Given the description of an element on the screen output the (x, y) to click on. 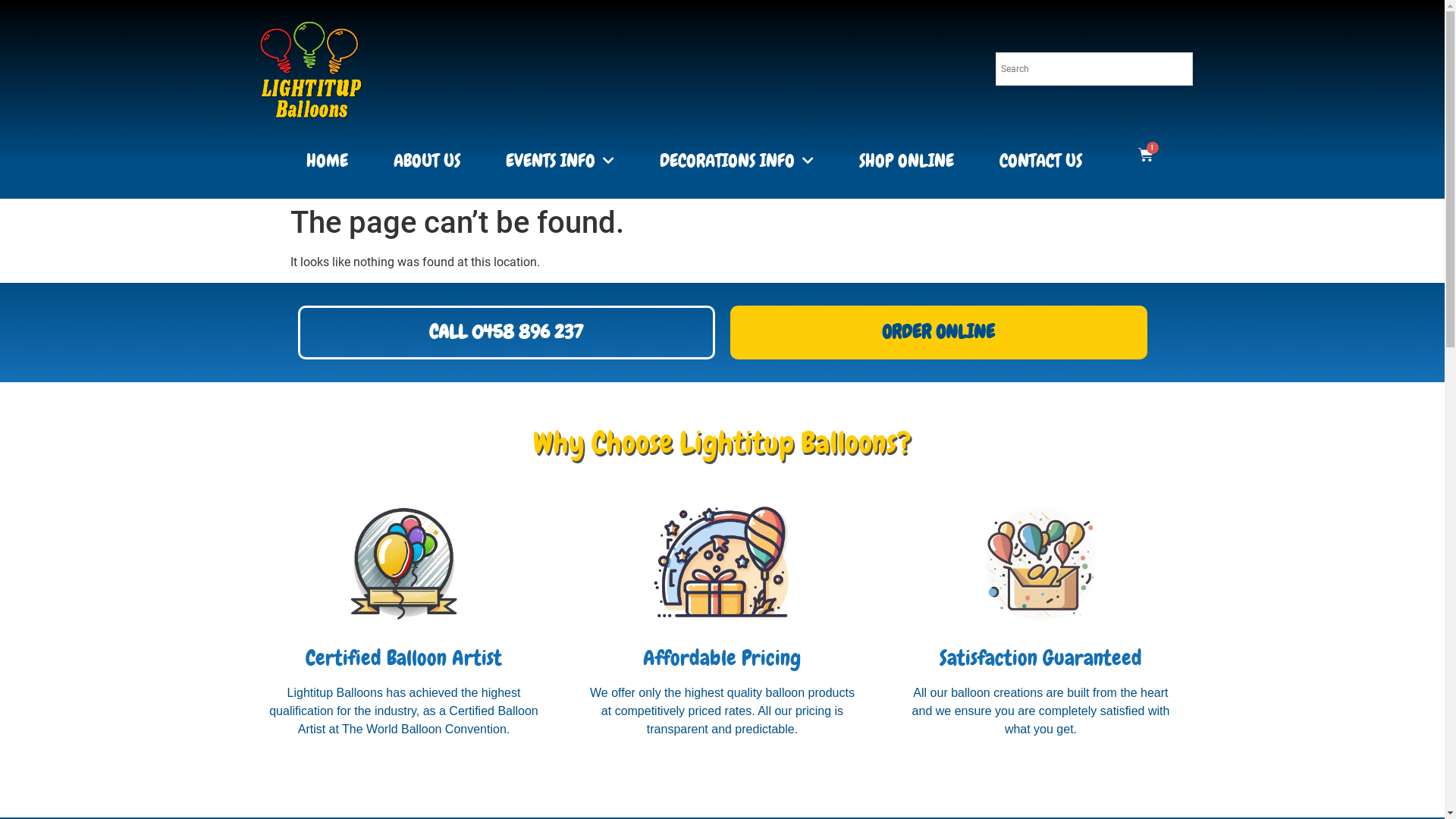
EVENTS INFO Element type: text (560, 160)
CALL 0458 896 237 Element type: text (505, 332)
ABOUT US Element type: text (426, 160)
DECORATIONS INFO Element type: text (736, 160)
ORDER ONLINE Element type: text (937, 332)
1 Element type: text (1145, 154)
HOME Element type: text (326, 160)
SHOP ONLINE Element type: text (906, 160)
CONTACT US Element type: text (1040, 160)
